Given the description of an element on the screen output the (x, y) to click on. 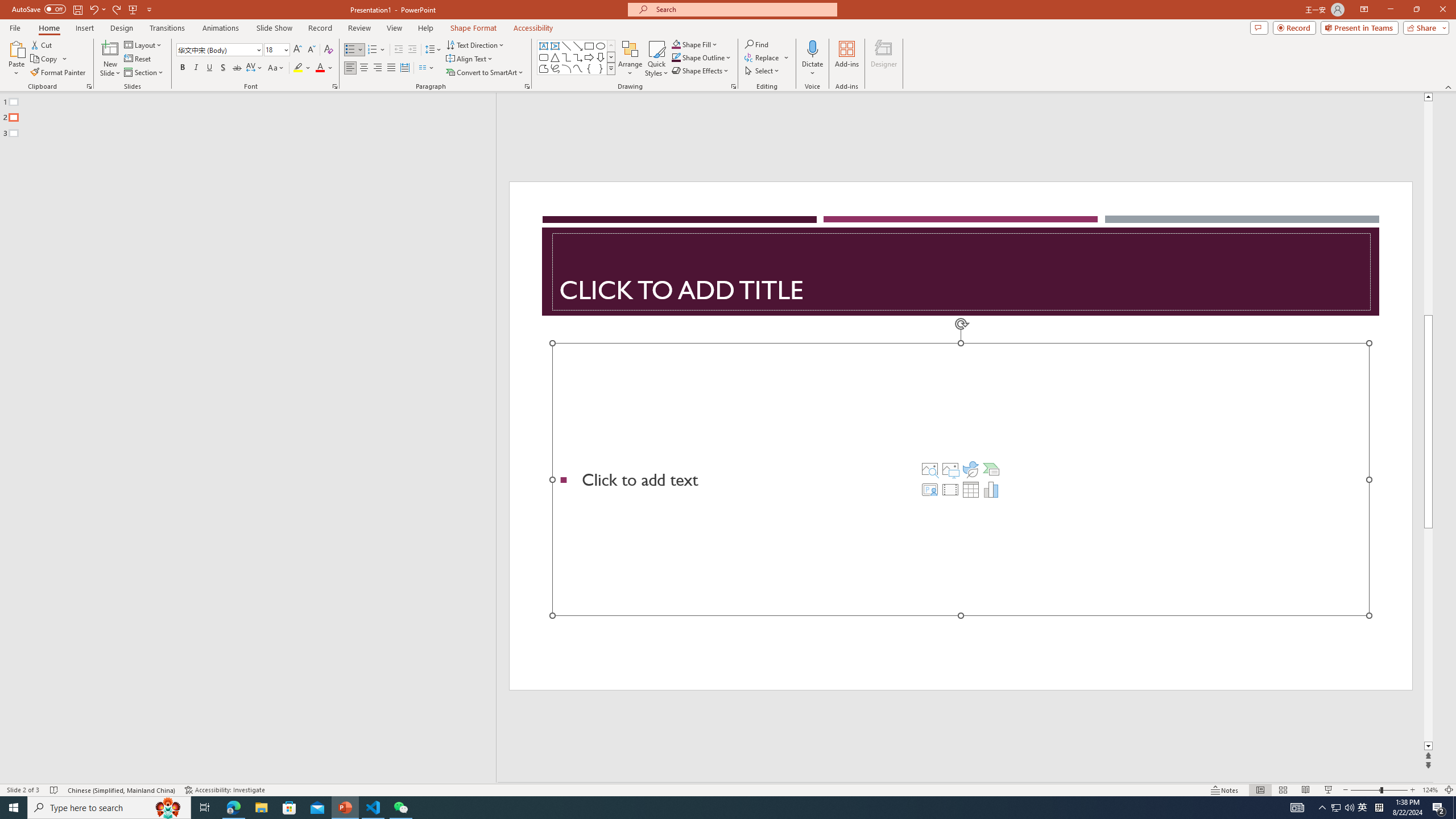
Insert Table (970, 489)
